Given the description of an element on the screen output the (x, y) to click on. 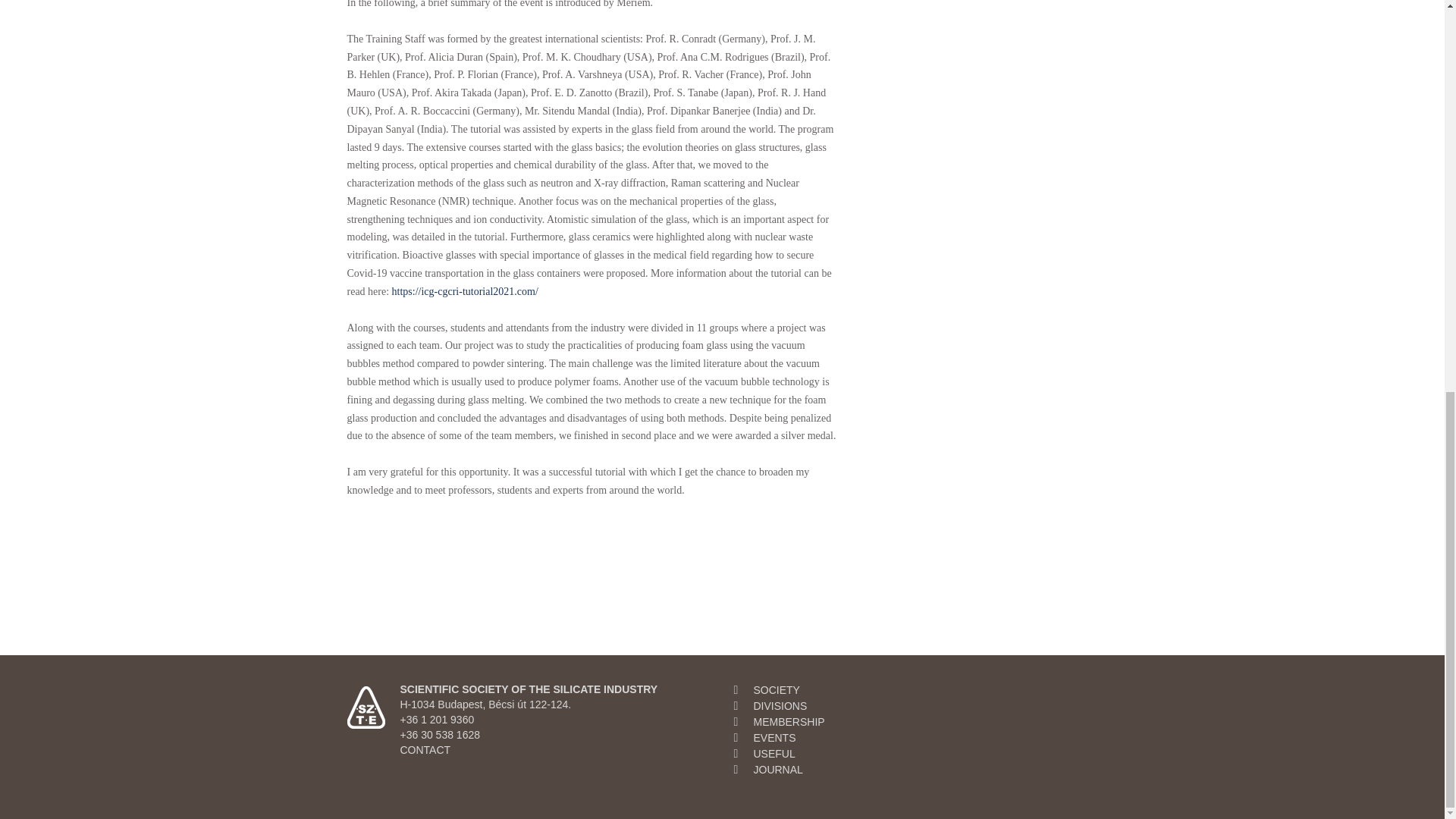
EVENTS (775, 737)
USEFUL (774, 753)
JOURNAL (778, 769)
CONTACT (425, 749)
SOCIETY (776, 689)
DIVISIONS (781, 705)
MEMBERSHIP (789, 721)
